Given the description of an element on the screen output the (x, y) to click on. 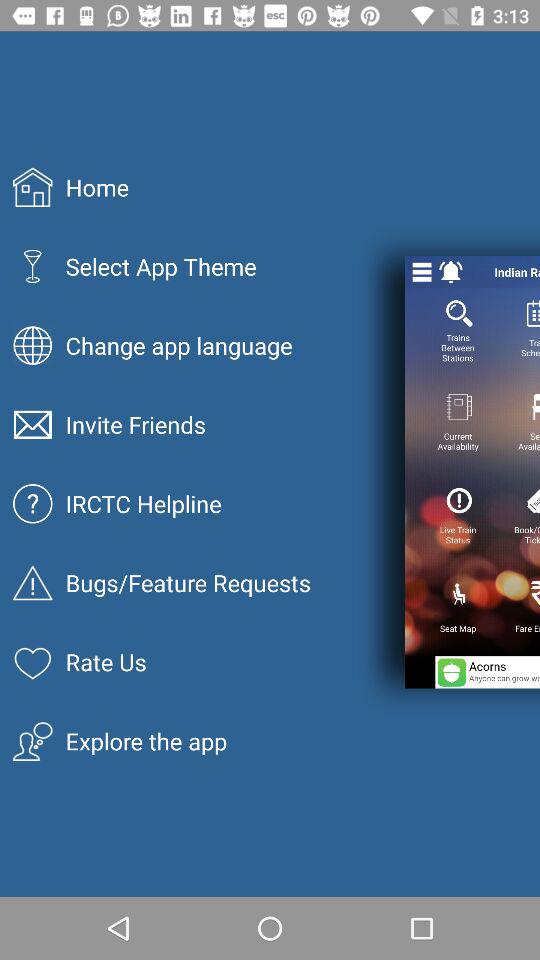
go back (451, 271)
